Given the description of an element on the screen output the (x, y) to click on. 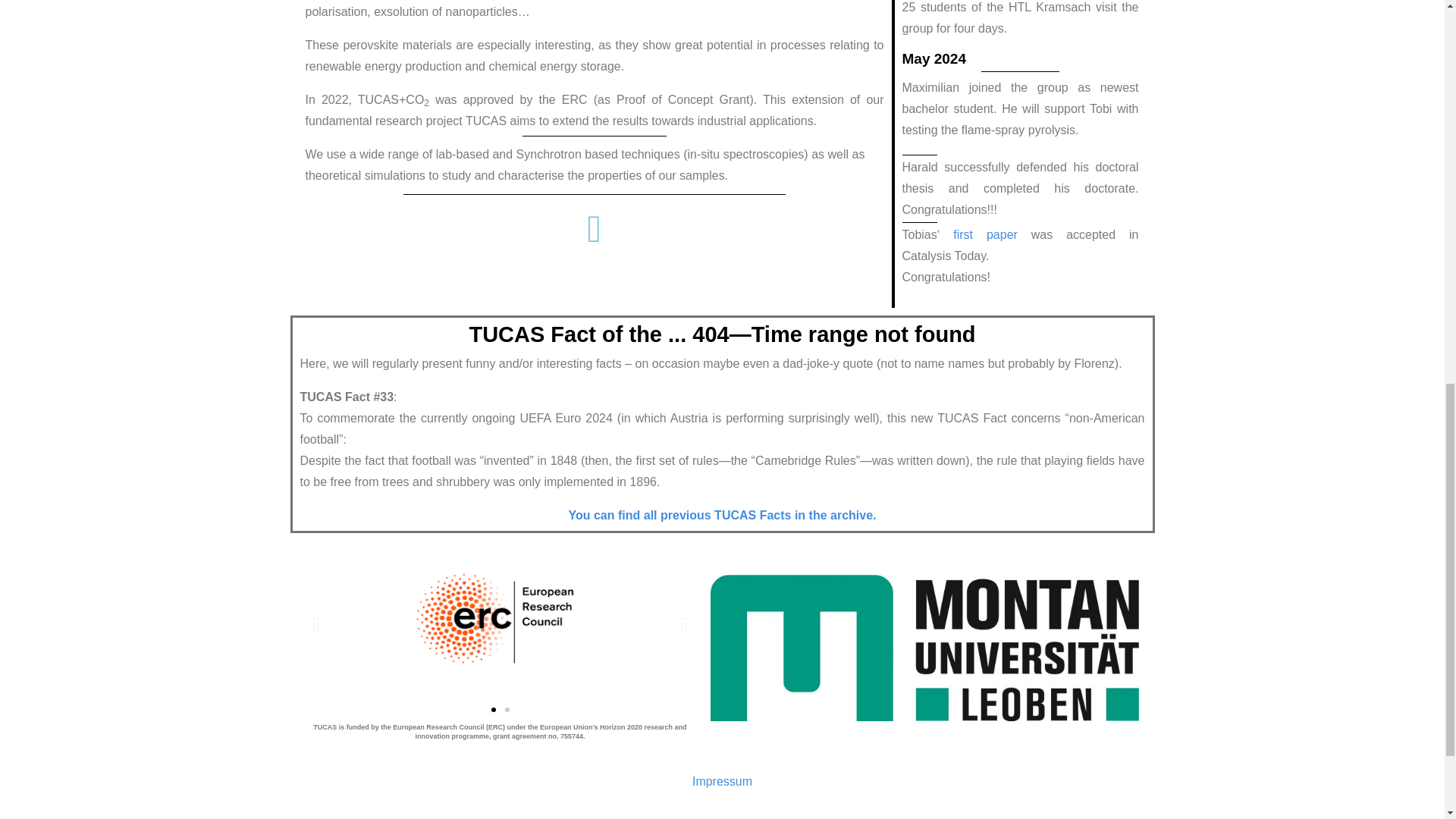
first paper (985, 234)
You can find all previous TUCAS Facts in the archive. (721, 514)
Impressum (722, 780)
